Given the description of an element on the screen output the (x, y) to click on. 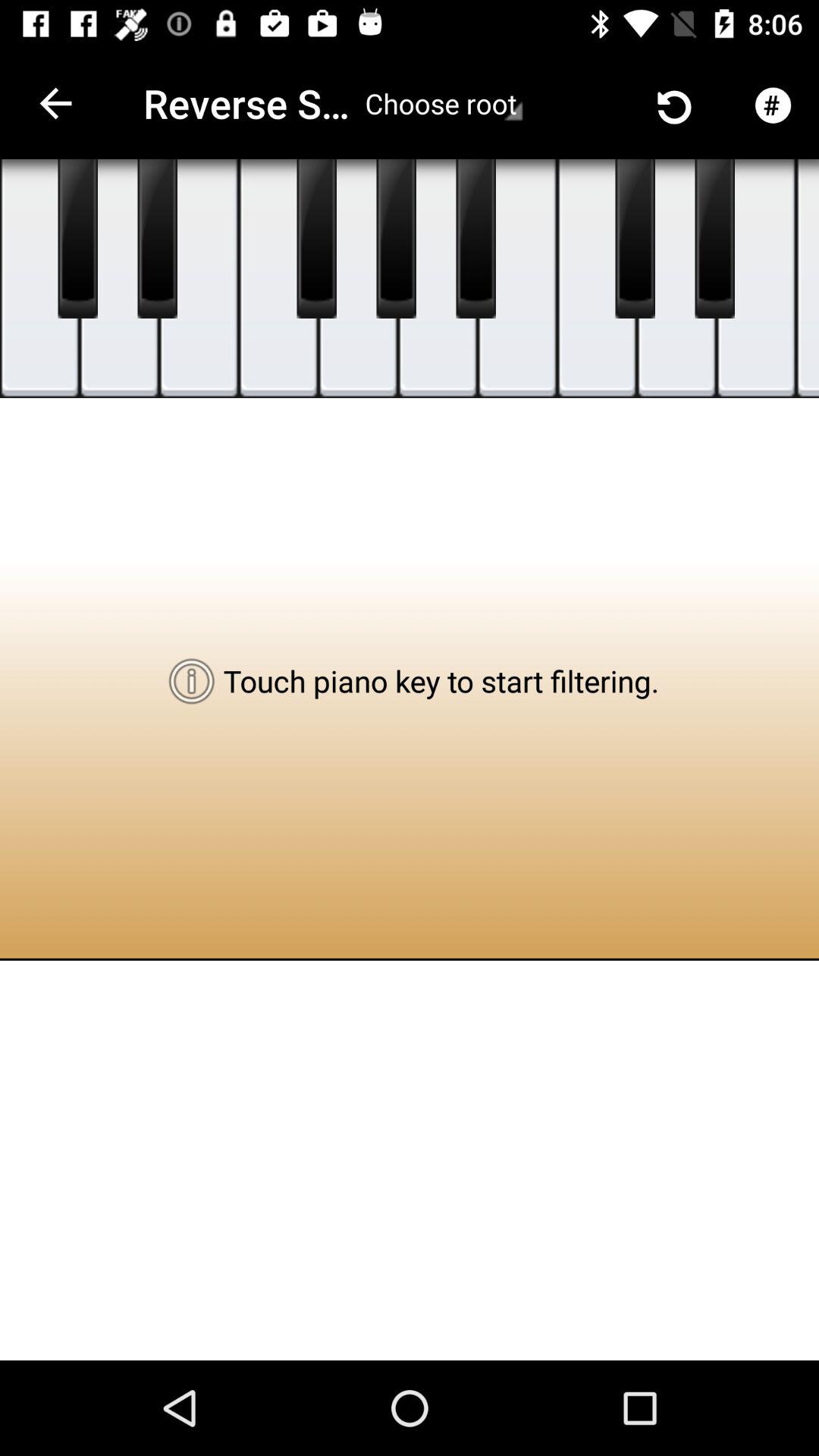
piano keys (358, 278)
